Given the description of an element on the screen output the (x, y) to click on. 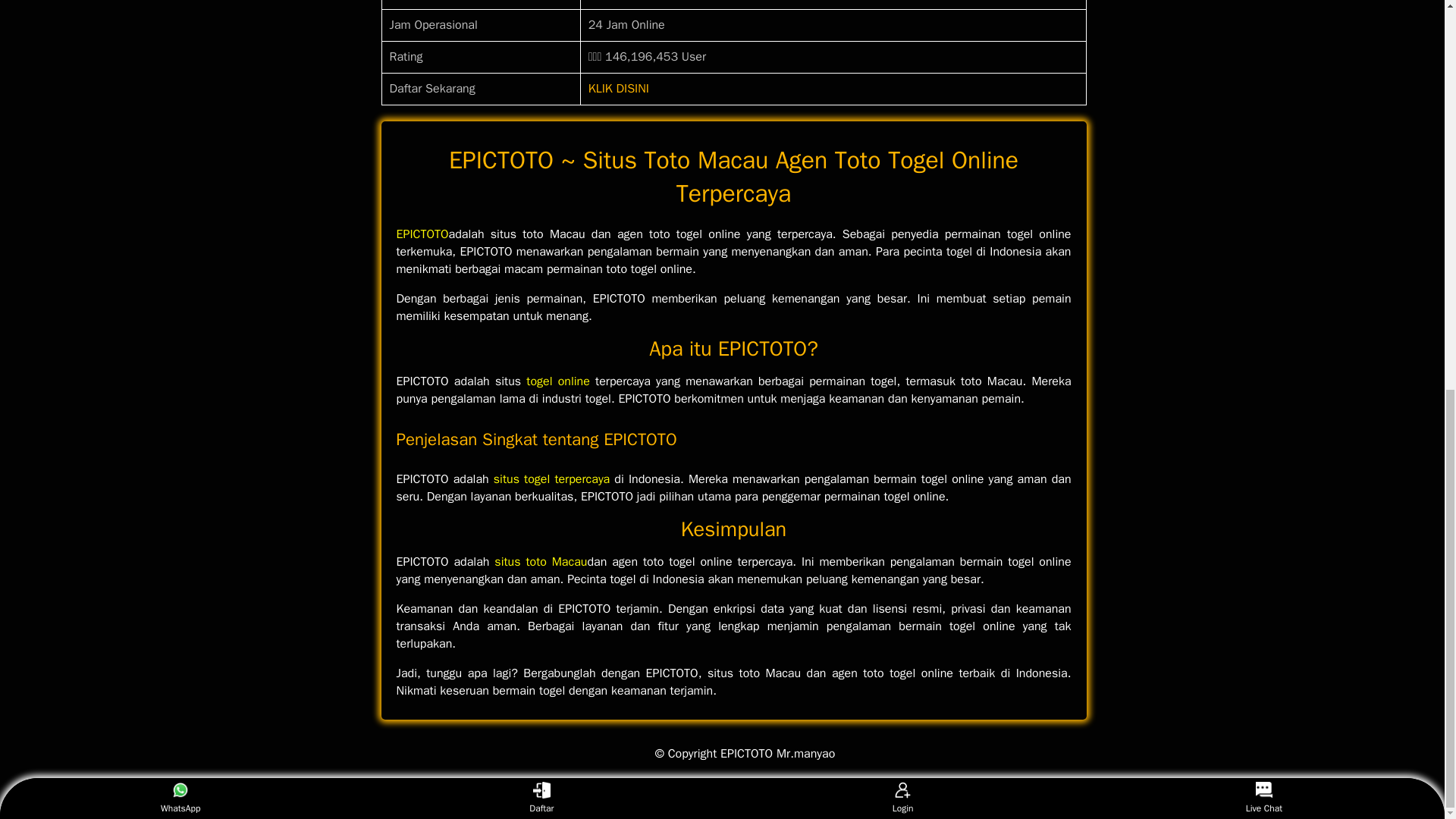
situs togel terpercaya (551, 478)
EPICTOTO (422, 233)
Login (903, 56)
situs toto Macau  (540, 561)
Live Chat (1263, 56)
Daftar (541, 56)
KLIK DISINI (618, 88)
togel online (557, 381)
situs togel terpercaya (551, 478)
WhatsApp (180, 56)
